Given the description of an element on the screen output the (x, y) to click on. 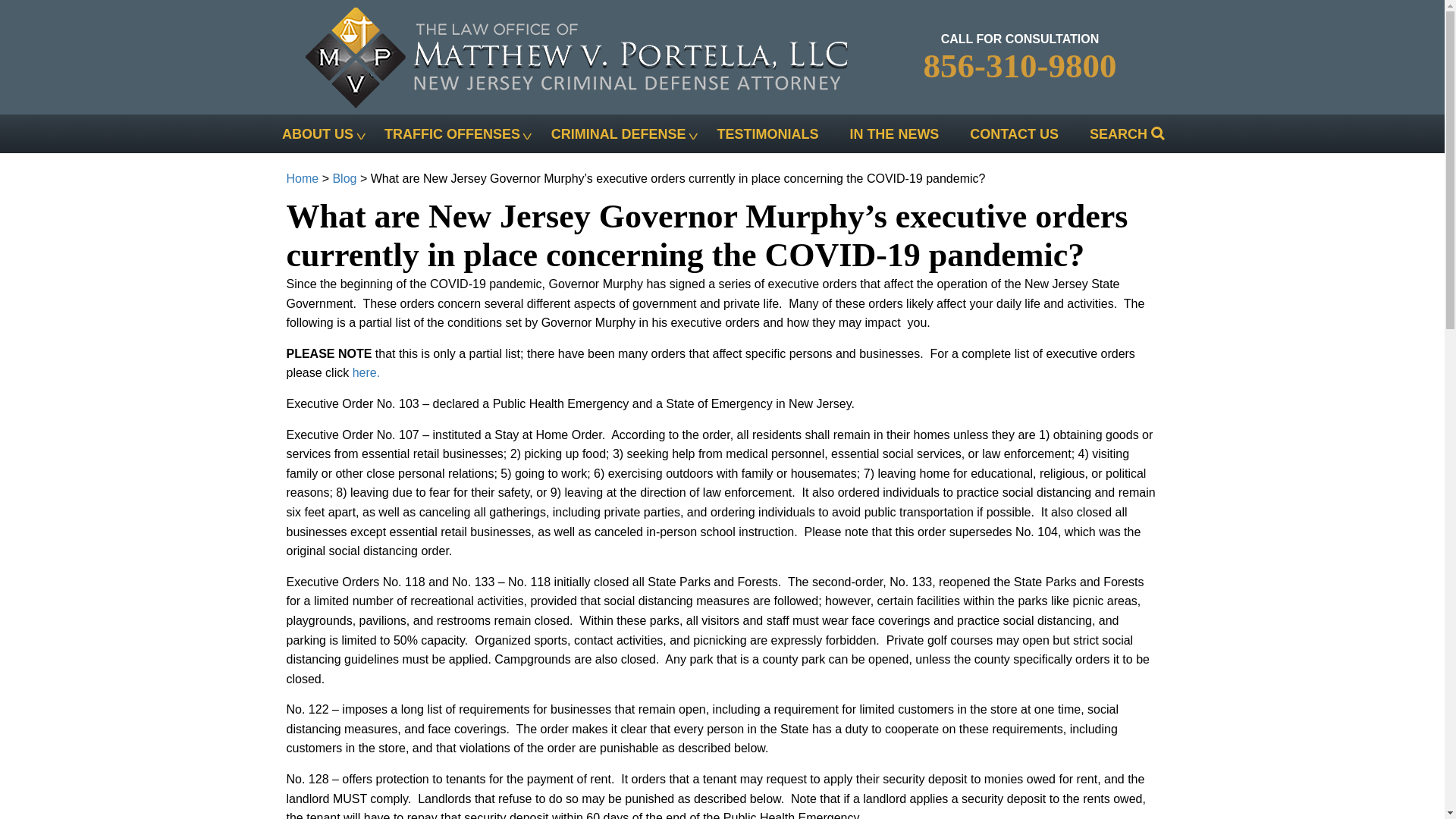
TESTIMONIALS (767, 133)
TRAFFIC OFFENSES (451, 133)
856-310-9800 (1019, 65)
CRIMINAL DEFENSE (617, 133)
ABOUT US (317, 133)
